Given the description of an element on the screen output the (x, y) to click on. 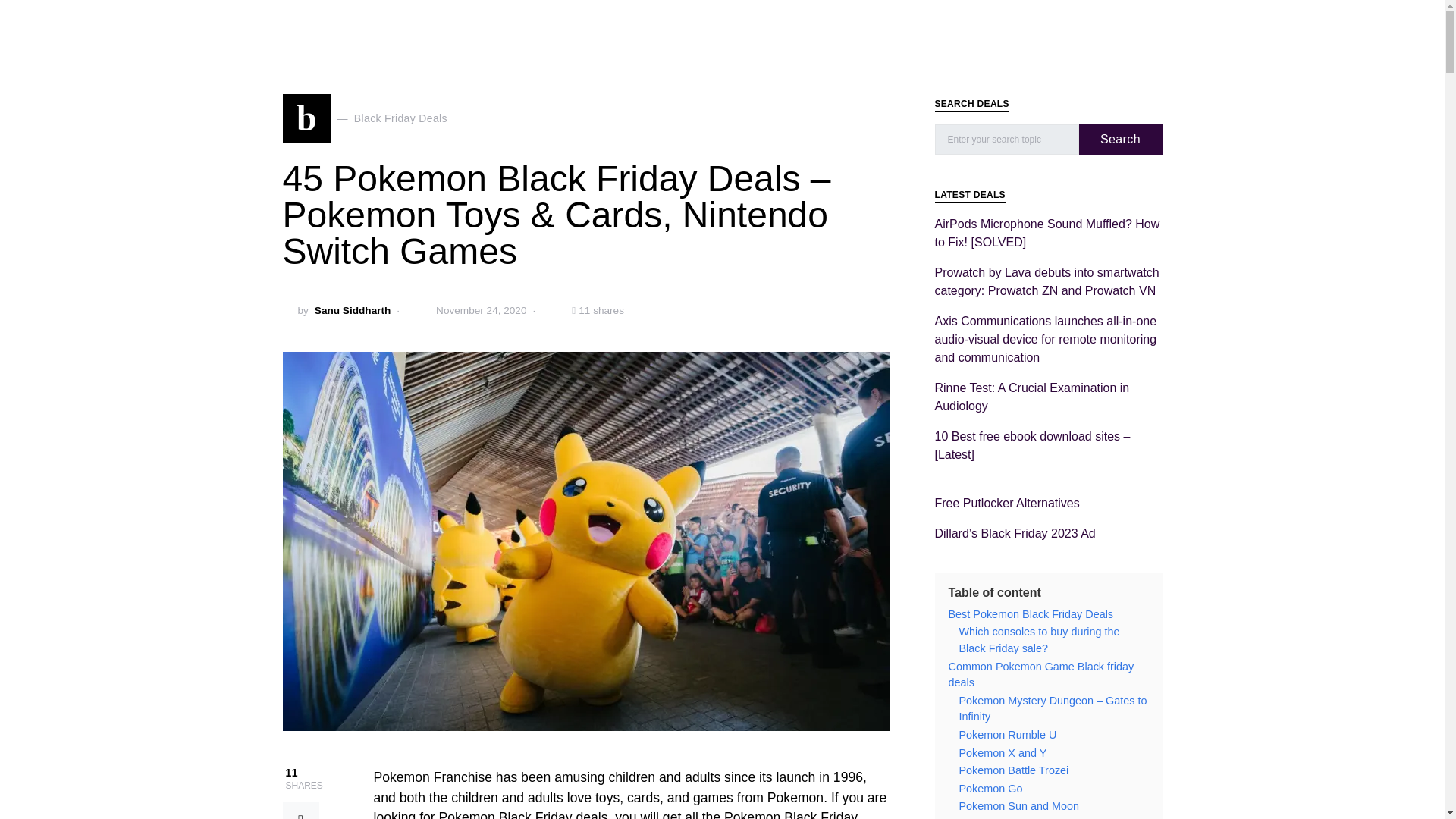
View all posts by Sanu Siddharth (352, 310)
Top (598, 22)
Deals (548, 22)
Start Here (489, 22)
